Given the description of an element on the screen output the (x, y) to click on. 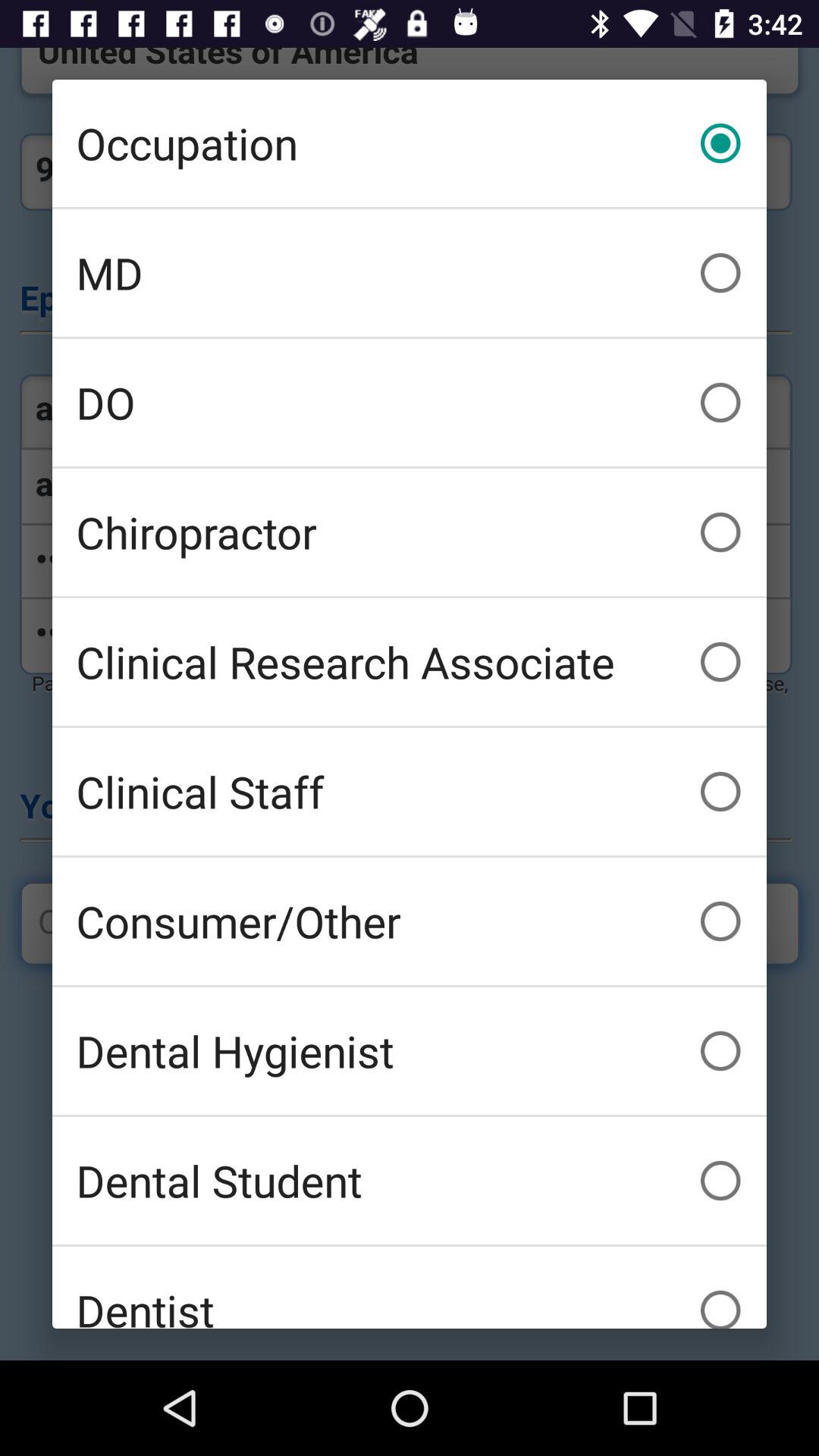
flip to clinical staff (409, 791)
